Given the description of an element on the screen output the (x, y) to click on. 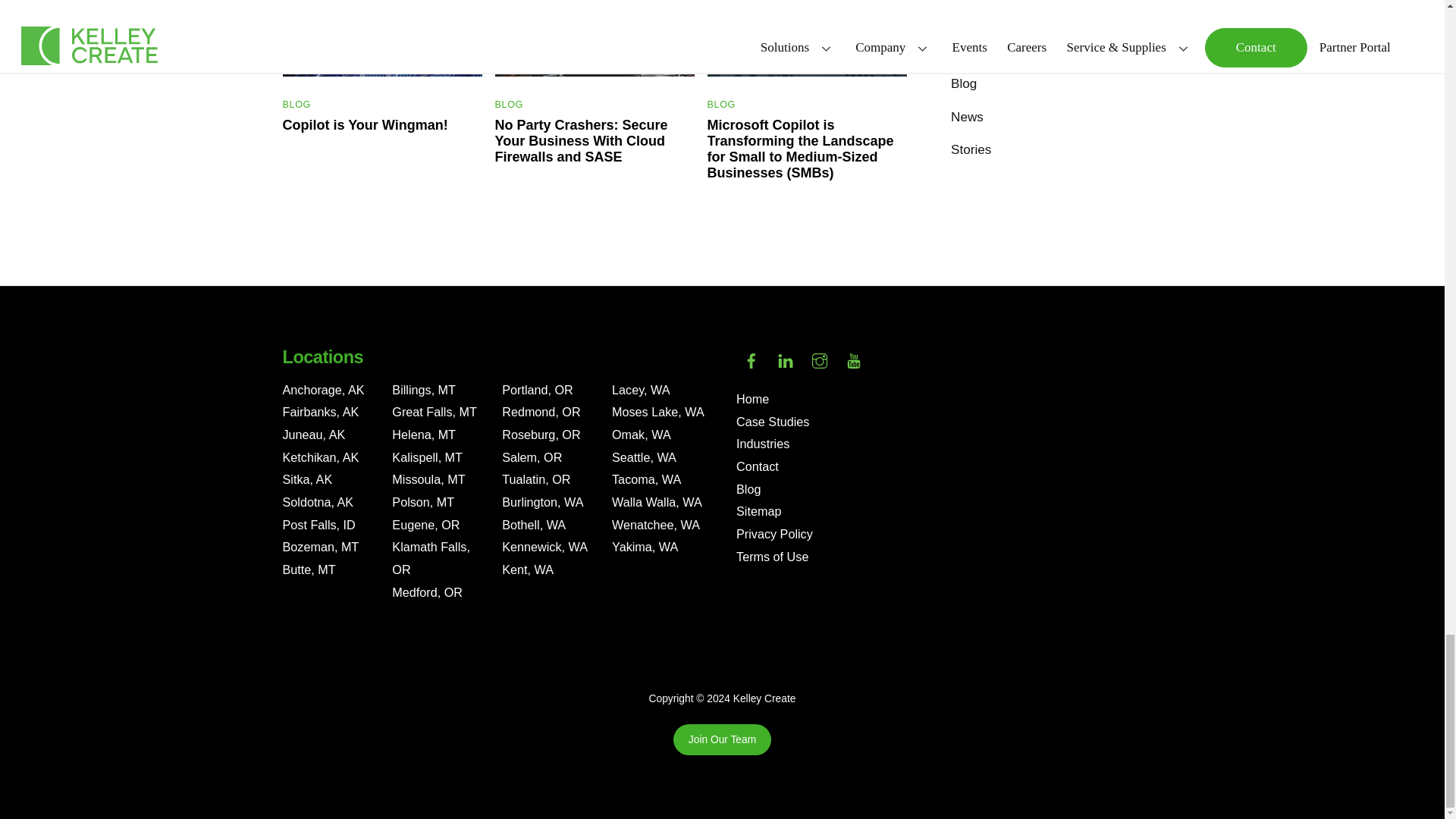
Secure Your Business Cloud Firewalls (595, 38)
Microsoft Copilot Features for SMBs (807, 38)
Copilot is Your Wingman (381, 38)
